Given the description of an element on the screen output the (x, y) to click on. 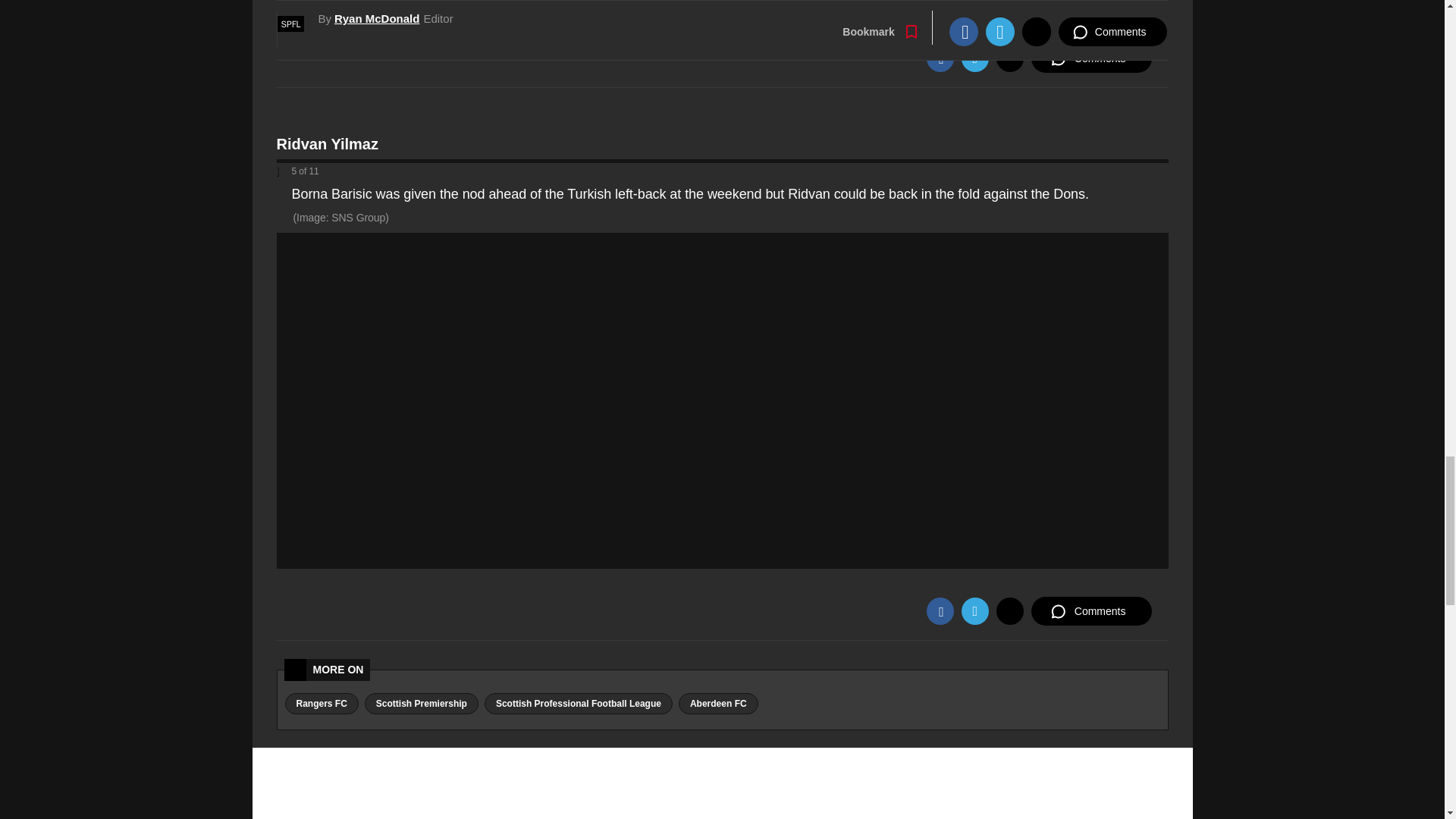
Facebook (939, 58)
